Given the description of an element on the screen output the (x, y) to click on. 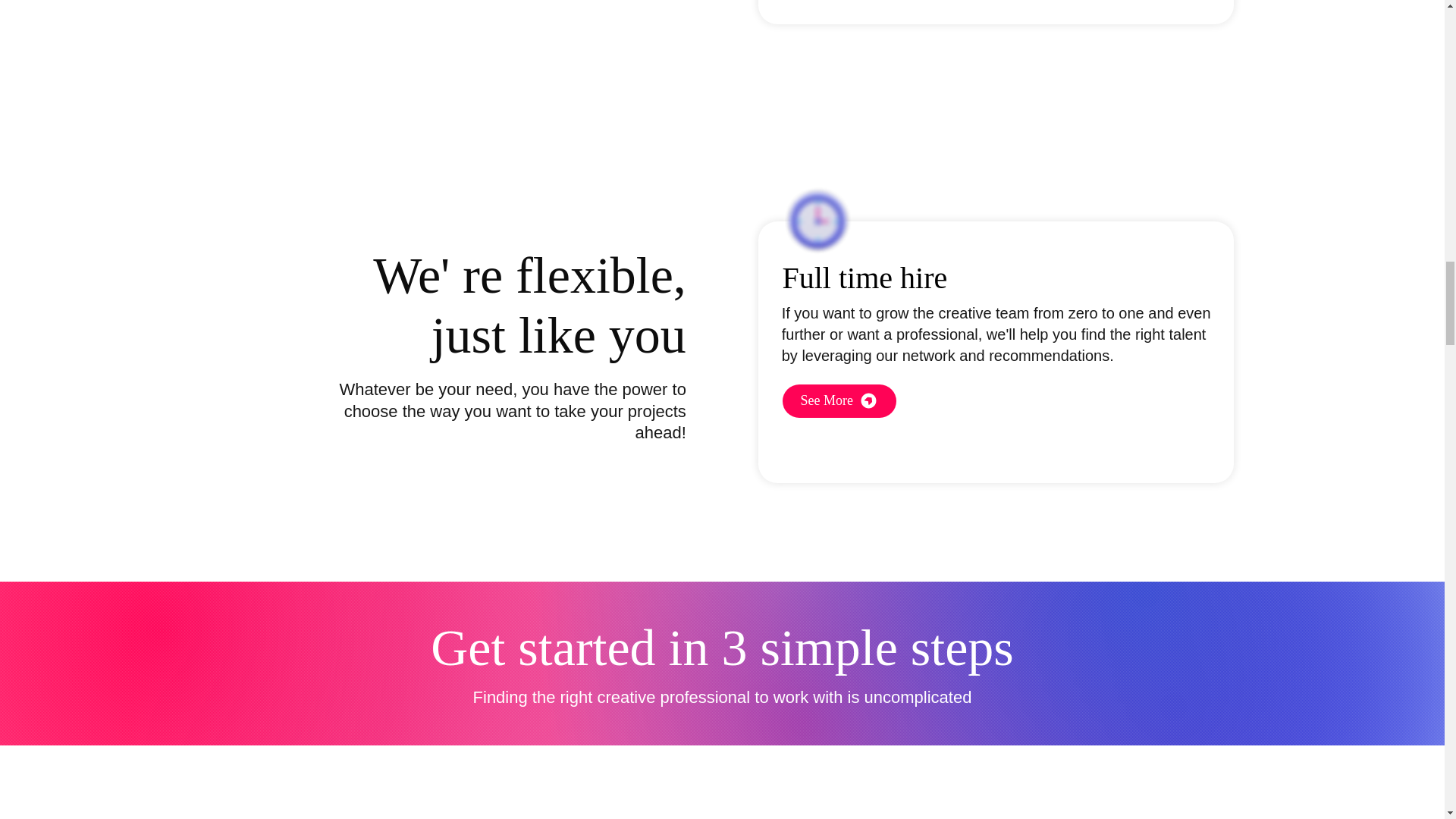
See More (839, 400)
